Given the description of an element on the screen output the (x, y) to click on. 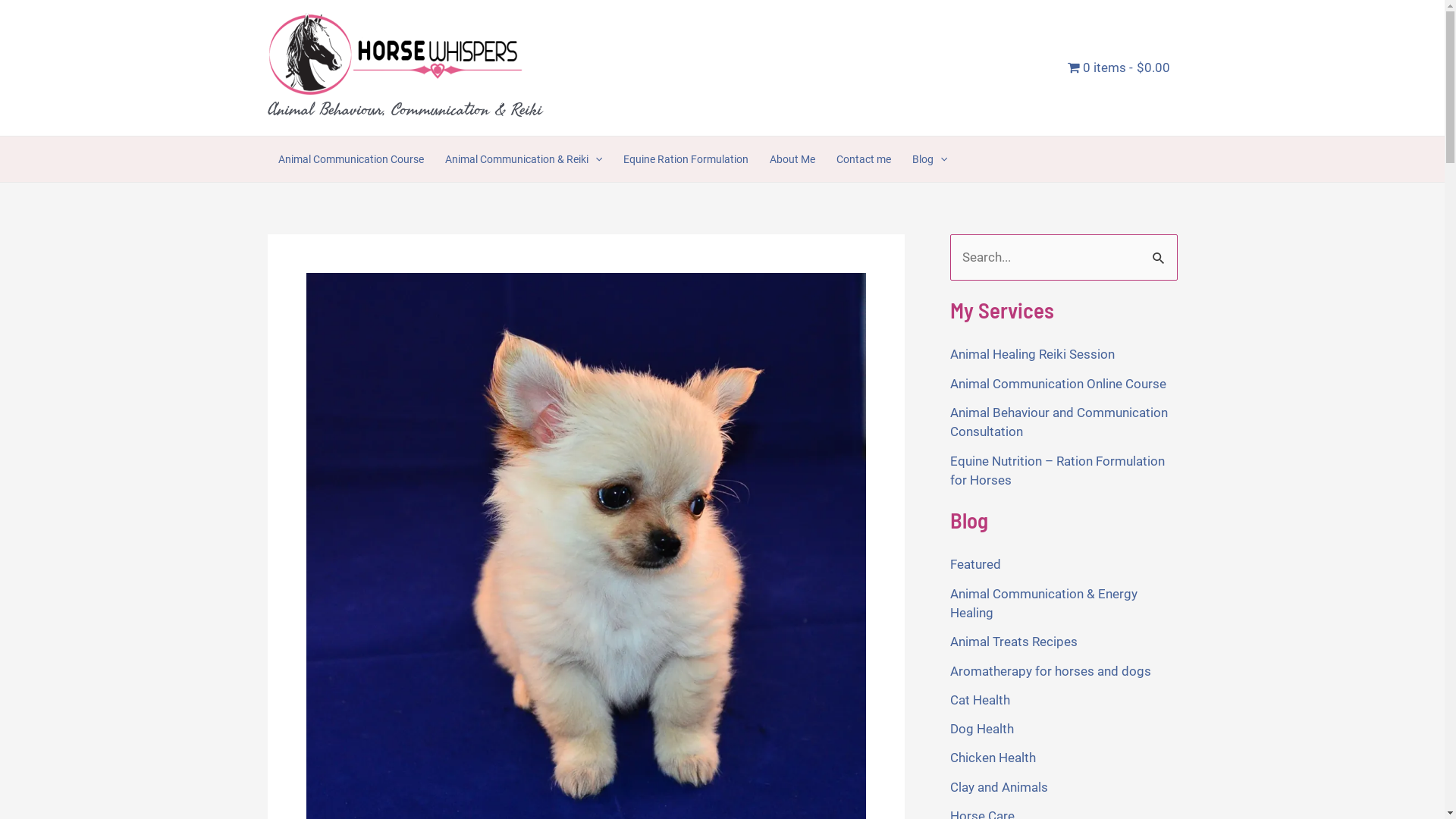
Aromatherapy for horses and dogs Element type: text (1049, 670)
Animal Communication & Reiki Element type: text (522, 159)
Featured Element type: text (974, 563)
Animal Communication Course Element type: text (349, 159)
Animal Treats Recipes Element type: text (1012, 641)
Search Element type: text (1160, 249)
About Me Element type: text (792, 159)
Animal Behaviour and Communication Consultation Element type: text (1058, 421)
Cat Health Element type: text (979, 699)
Contact me Element type: text (863, 159)
Animal Communication Online Course Element type: text (1057, 383)
Blog Element type: text (929, 159)
Dog Health Element type: text (981, 728)
Chicken Health Element type: text (992, 757)
Equine Ration Formulation Element type: text (685, 159)
0 items$0.00 Element type: text (1118, 67)
Animal Healing Reiki Session Element type: text (1031, 353)
Animal Communication & Energy Healing Element type: text (1042, 603)
Clay and Animals Element type: text (998, 786)
